Given the description of an element on the screen output the (x, y) to click on. 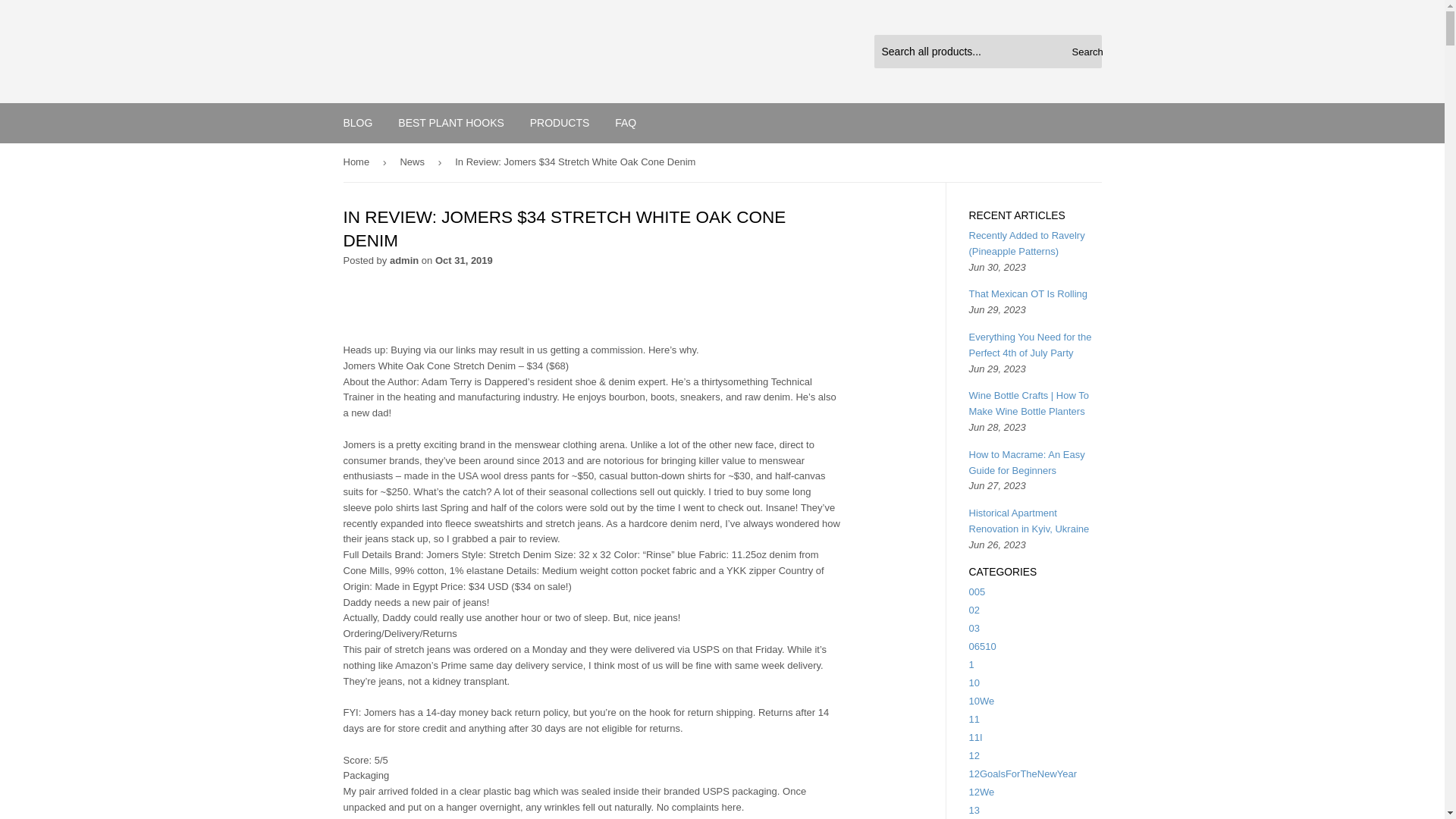
Show articles tagged 10We (981, 700)
Show articles tagged 005 (977, 591)
Search (1084, 51)
Show articles tagged 11 (974, 718)
Show articles tagged 02 (974, 609)
Show articles tagged 12We (981, 791)
005 (977, 591)
How to Macrame: An Easy Guide for Beginners (1026, 461)
Show articles tagged 10 (974, 682)
PRODUCTS (559, 122)
